Given the description of an element on the screen output the (x, y) to click on. 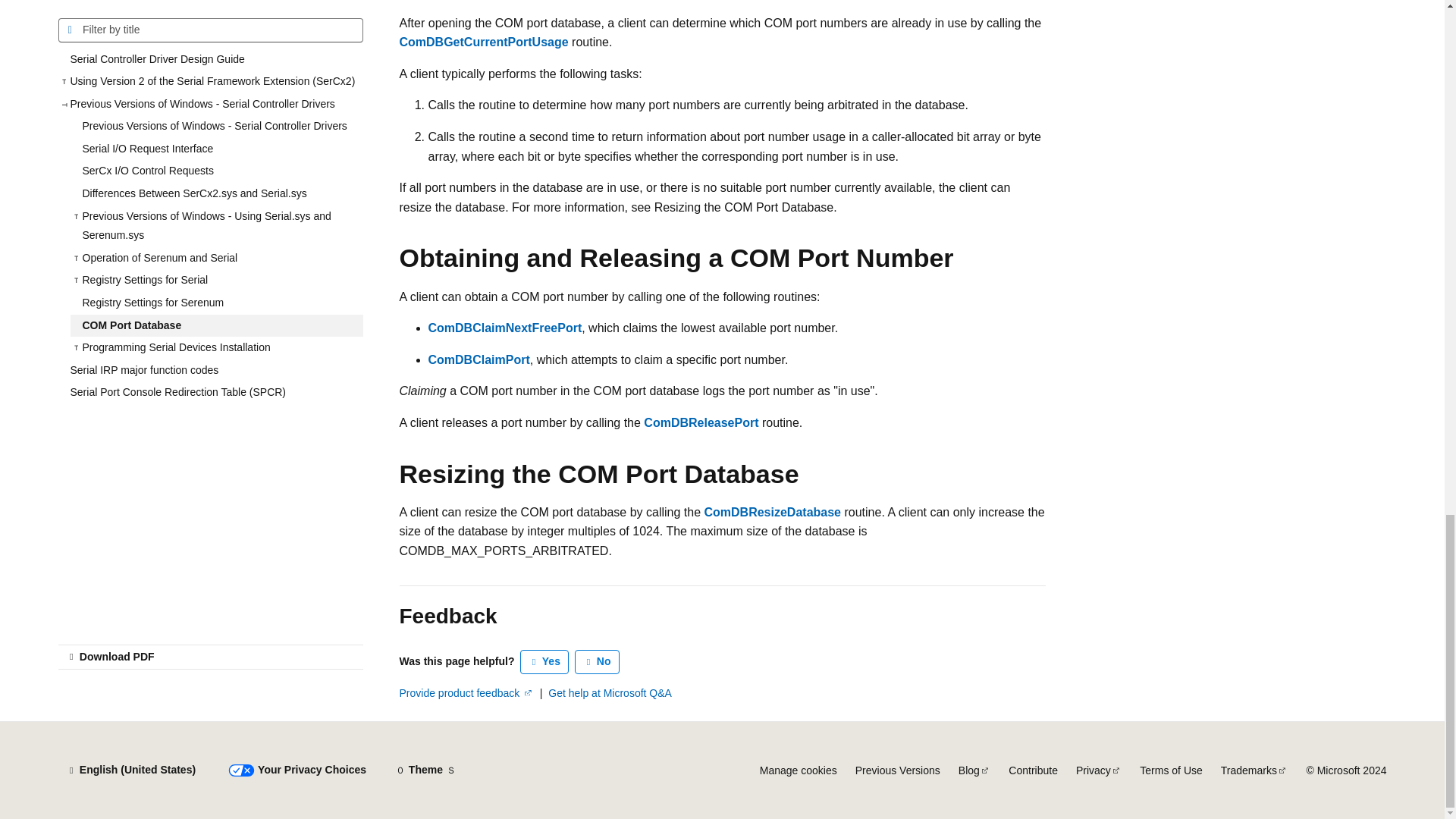
This article is helpful (544, 662)
This article is not helpful (597, 662)
Theme (425, 770)
